Given the description of an element on the screen output the (x, y) to click on. 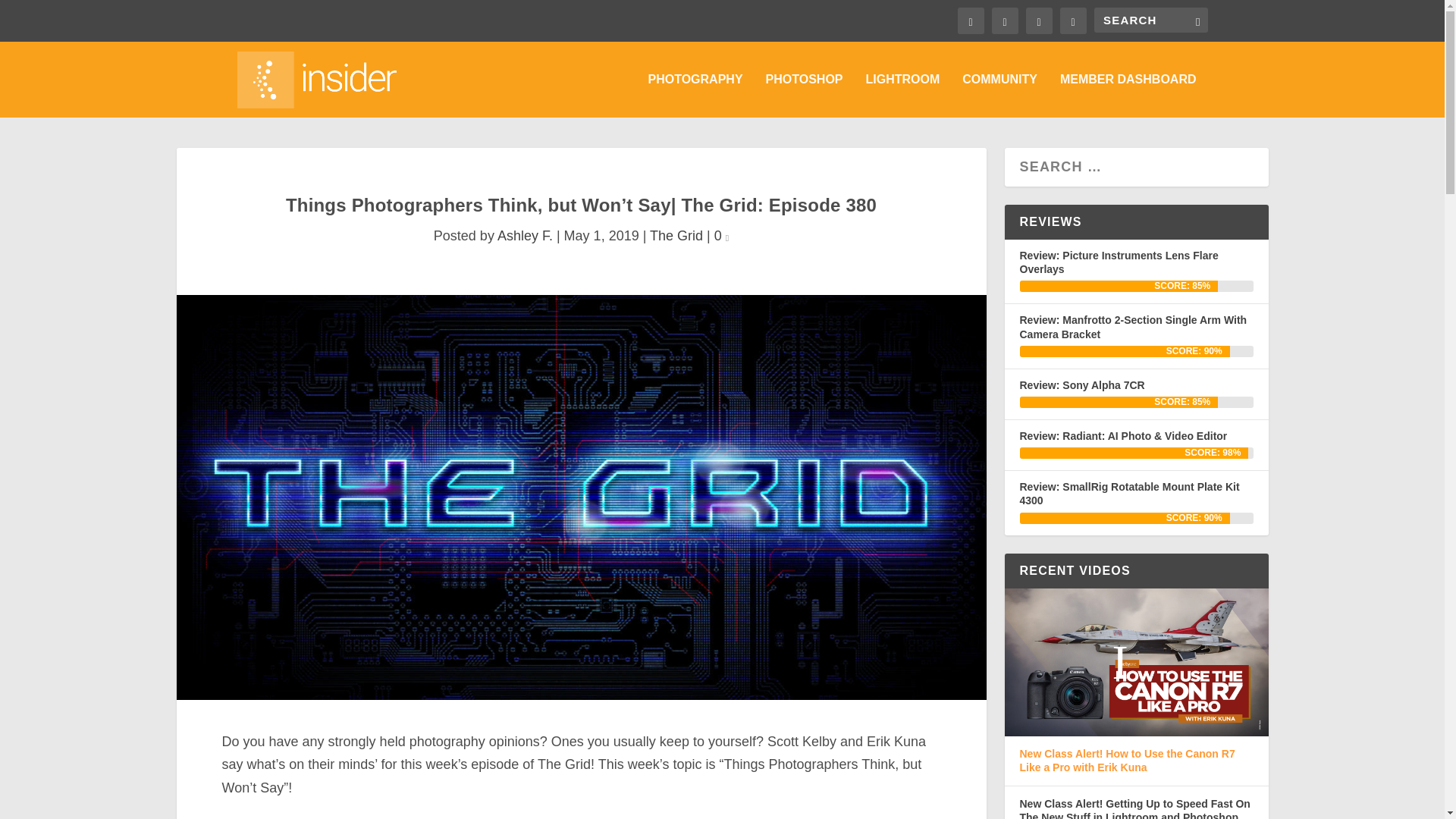
Ashley F. (525, 235)
MEMBER DASHBOARD (1127, 95)
The Grid (676, 235)
Posts by Ashley F. (525, 235)
Search for: (1150, 19)
0 (721, 235)
COMMUNITY (999, 95)
LIGHTROOM (903, 95)
PHOTOGRAPHY (694, 95)
PHOTOSHOP (804, 95)
